Given the description of an element on the screen output the (x, y) to click on. 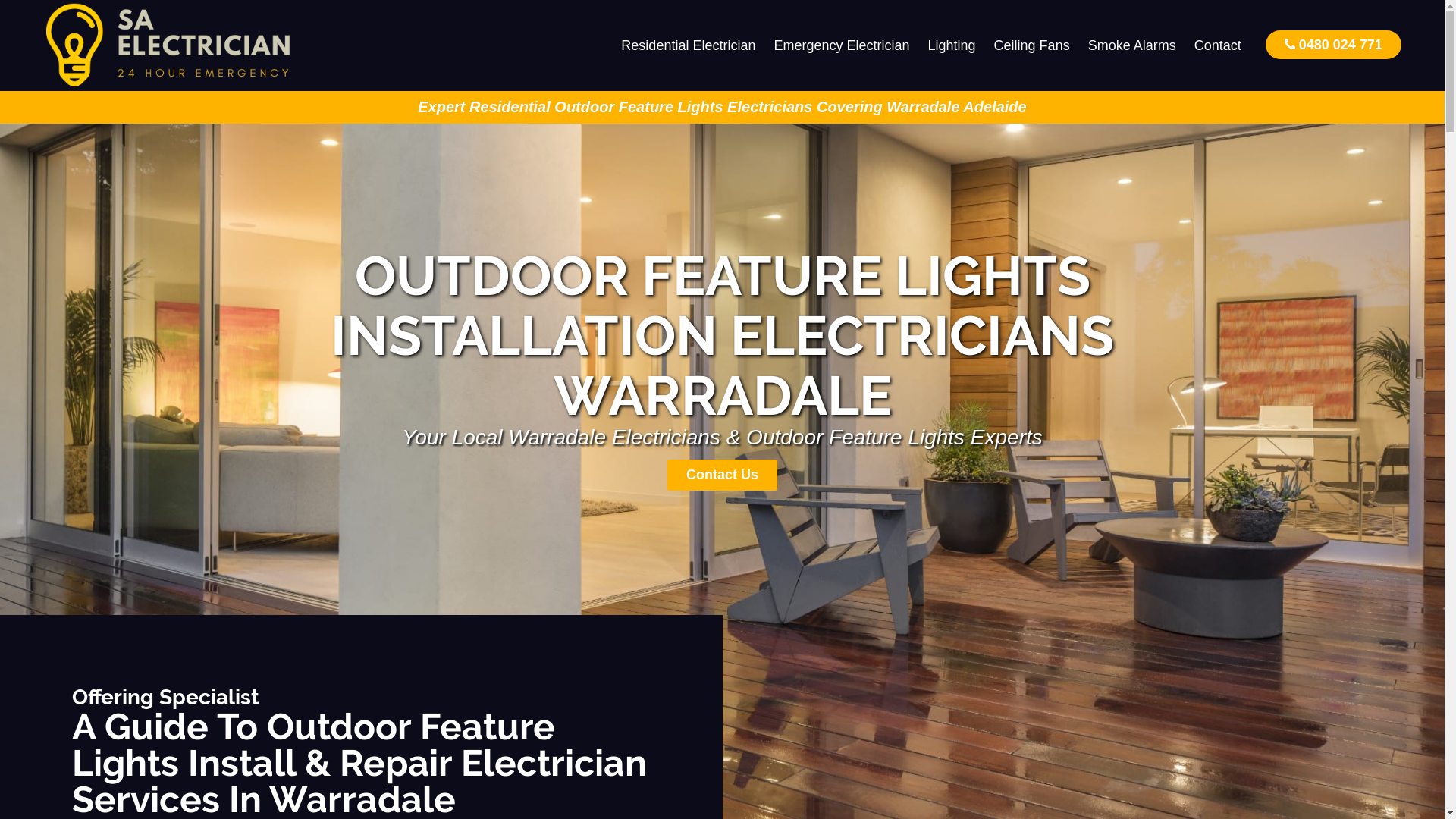
0480 024 771 Element type: text (1333, 44)
Ceiling Fans Element type: text (1032, 45)
Emergency Electrician Element type: text (841, 45)
Lighting Element type: text (952, 45)
Smoke Alarms Element type: text (1132, 45)
Contact Element type: text (1217, 45)
Contact Us Element type: text (722, 474)
Residential Electrician Element type: text (687, 45)
